Given the description of an element on the screen output the (x, y) to click on. 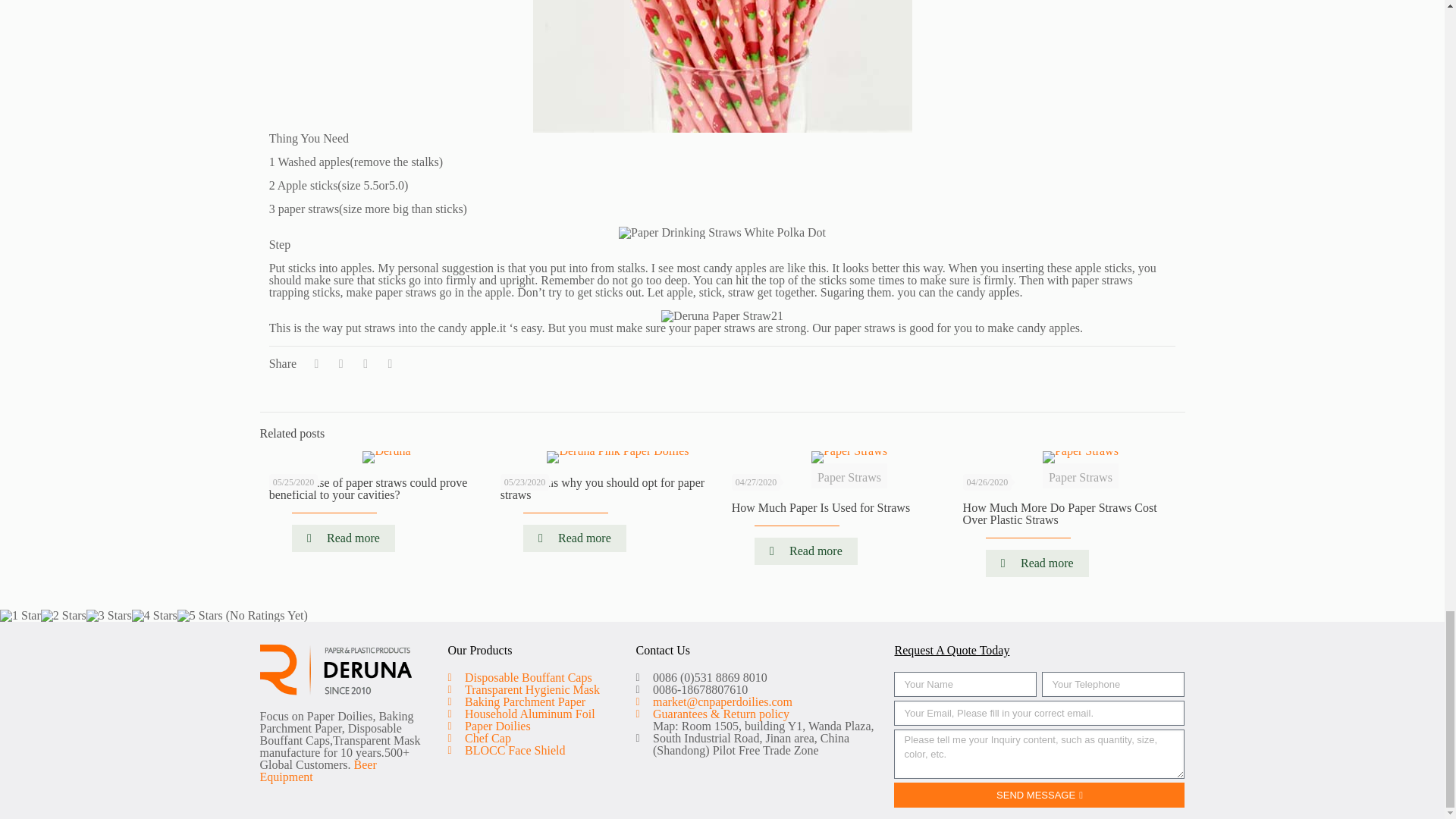
4 Stars (154, 615)
1 Star (20, 615)
2 Stars (62, 615)
How Do You Put Paper Straws for Candy Apples 4 (721, 232)
Top reasons why you should opt for paper straws 9 (617, 457)
How Do You Put Paper Straws for Candy Apples 3 (721, 66)
3 Stars (108, 615)
5 Stars (199, 615)
